Given the description of an element on the screen output the (x, y) to click on. 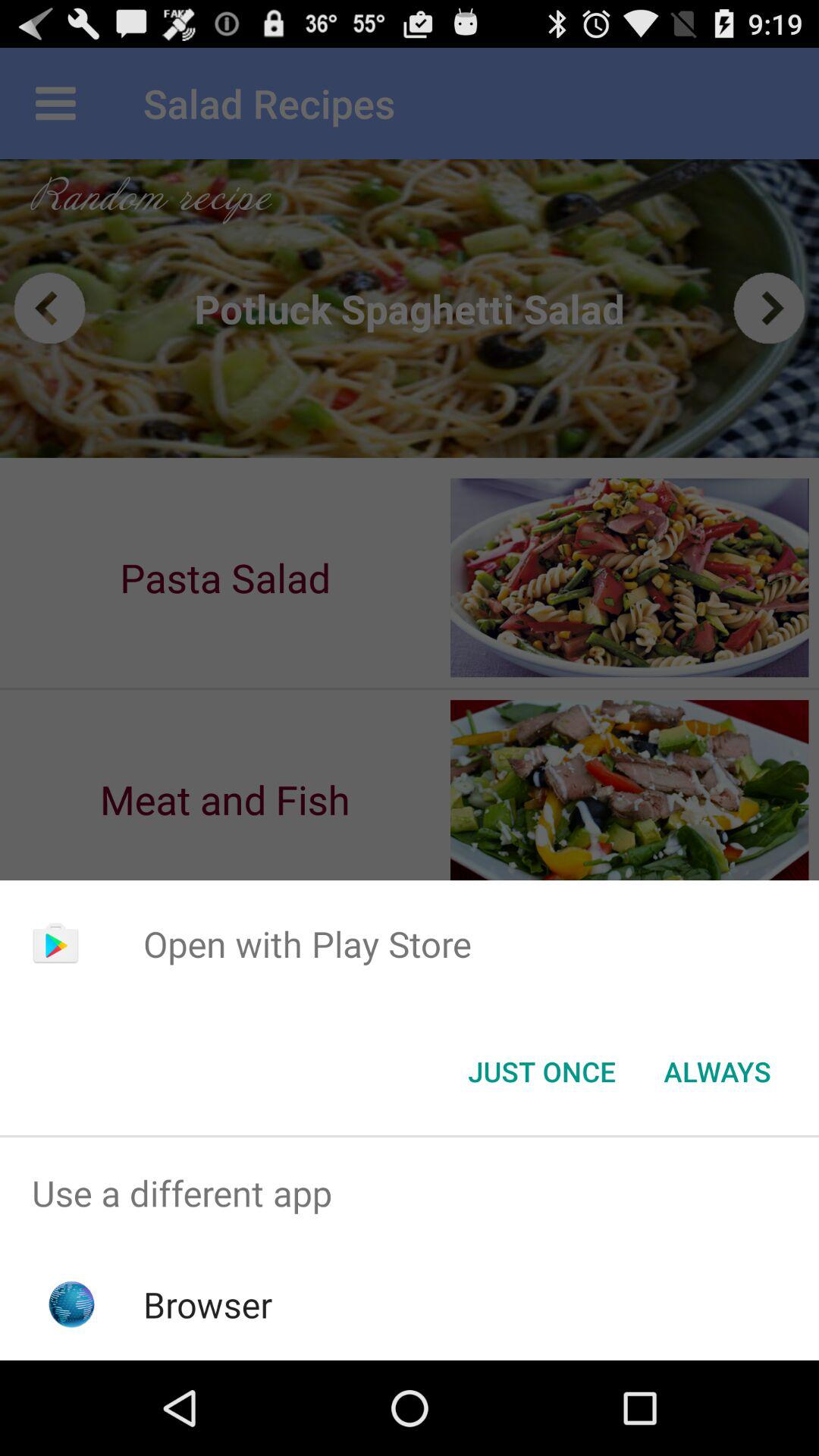
click the icon above browser (409, 1192)
